Given the description of an element on the screen output the (x, y) to click on. 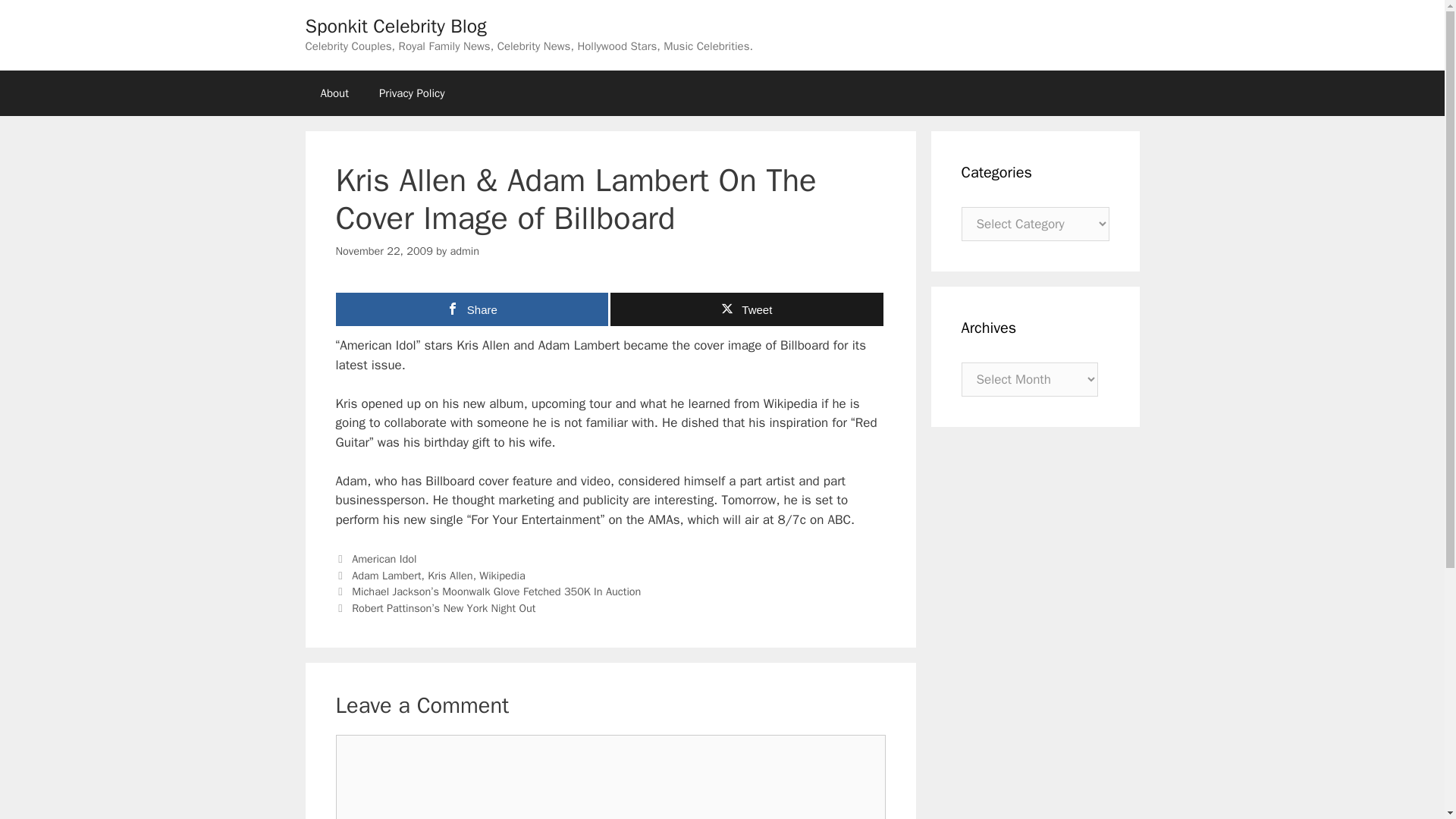
About (333, 92)
admin (464, 250)
Wikipedia (502, 575)
Adam Lambert (386, 575)
American Idol (384, 558)
Privacy Policy (412, 92)
View all posts by admin (464, 250)
Tweet (746, 308)
Sponkit Celebrity Blog (395, 25)
Kris Allen (449, 575)
Share (471, 308)
